Given the description of an element on the screen output the (x, y) to click on. 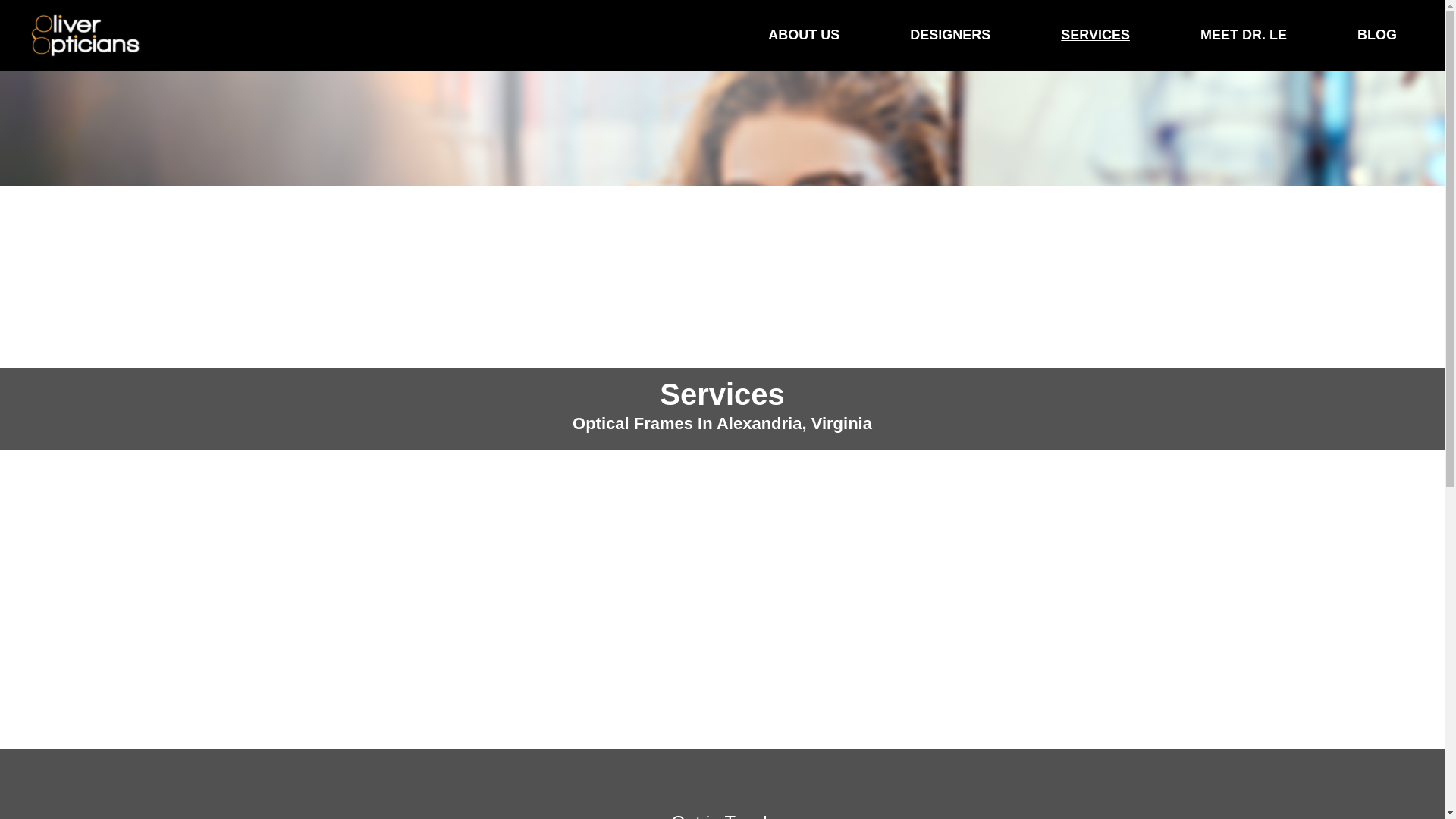
DESIGNERS (949, 35)
ABOUT US (803, 35)
BLOG (1359, 35)
MEET DR. LE (1243, 35)
SERVICES (1095, 35)
